Given the description of an element on the screen output the (x, y) to click on. 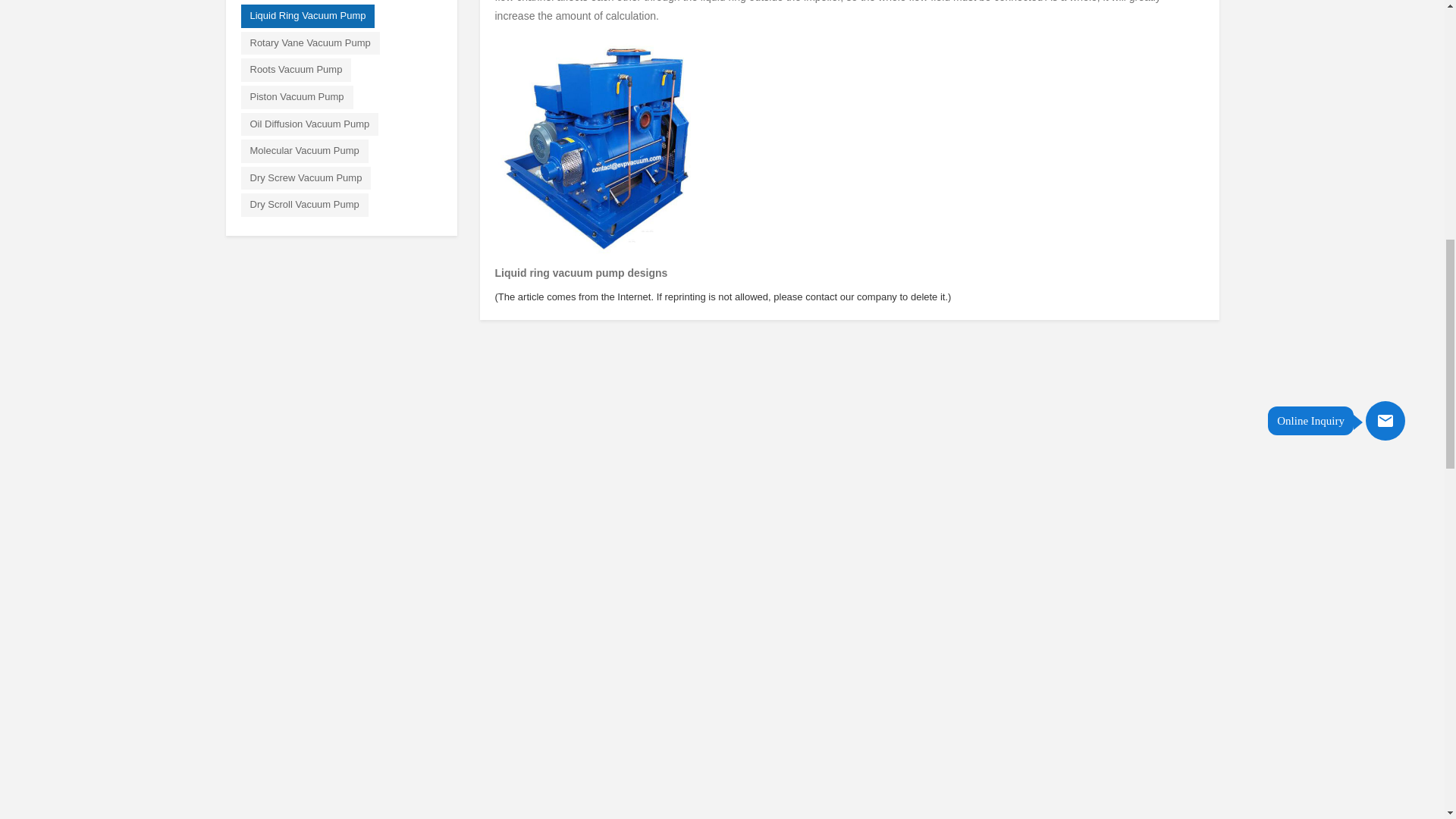
Liquid ring vacuum pump designs (599, 144)
